Given the description of an element on the screen output the (x, y) to click on. 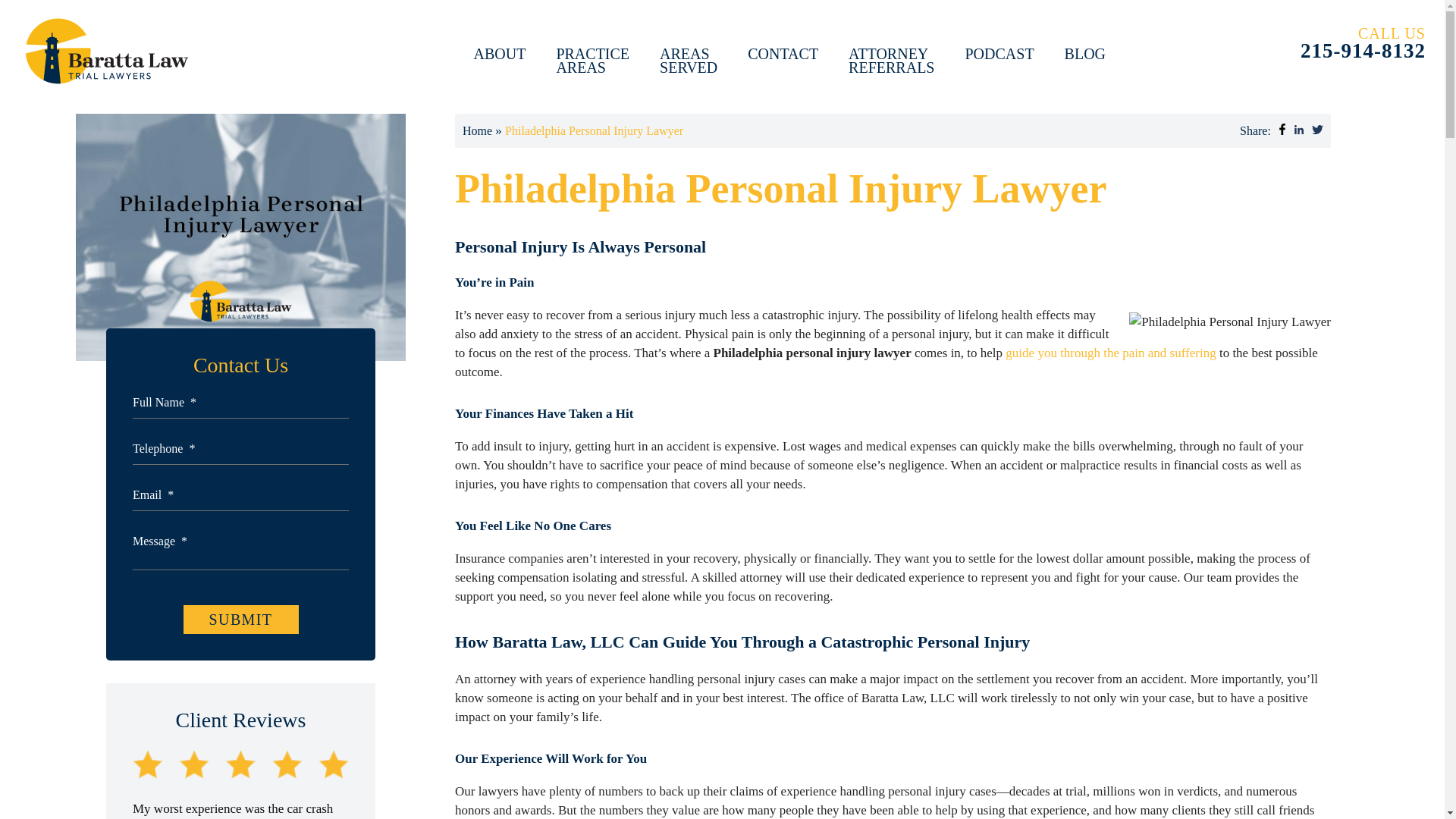
BLOG (1084, 55)
Submit (240, 619)
ABOUT (499, 55)
guide you through the pain and suffering (1353, 43)
ATTORNEY REFERRALS (1110, 352)
Home (891, 61)
PRACTICE AREAS (477, 130)
Submit (592, 61)
AREAS SERVED (240, 619)
PODCAST (688, 61)
CONTACT (998, 55)
